Given the description of an element on the screen output the (x, y) to click on. 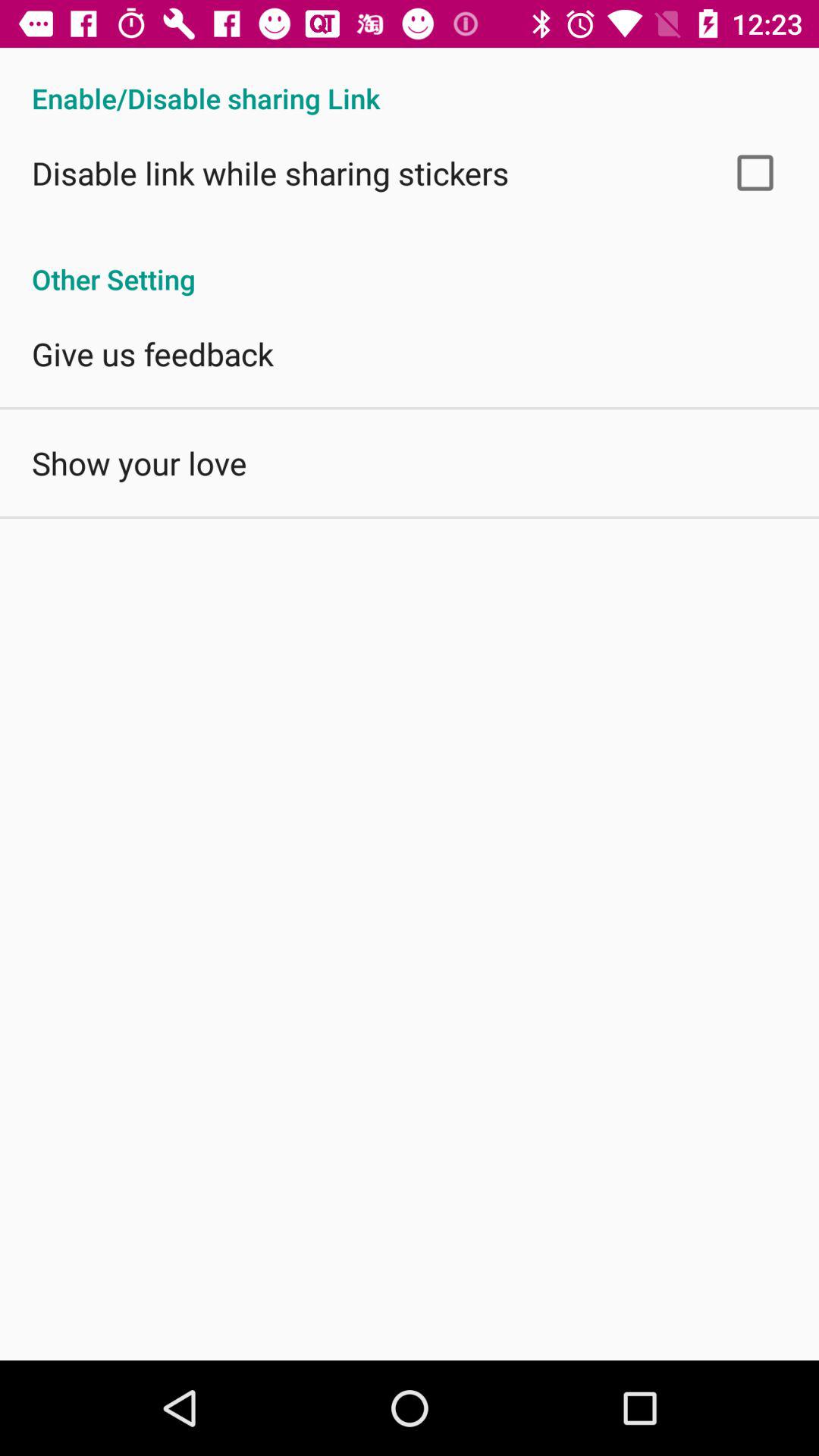
flip until the show your love (138, 462)
